Given the description of an element on the screen output the (x, y) to click on. 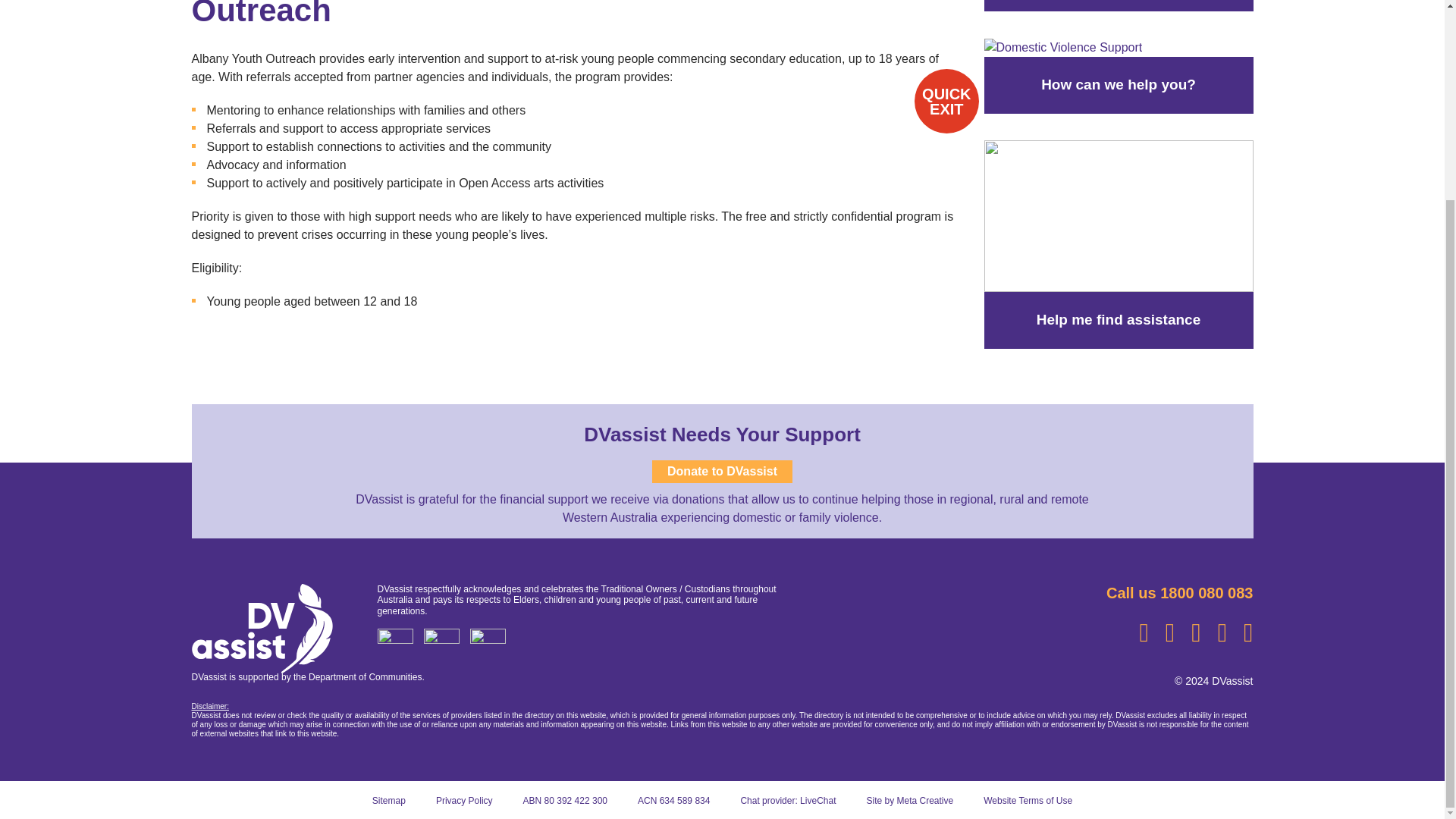
ACN 634 589 834 (673, 800)
Website Terms of Use (1027, 800)
Sitemap (389, 800)
ABN 80 392 422 300 (564, 800)
How can we help you? (1118, 28)
Site by Meta Creative (909, 800)
Privacy Policy (464, 800)
Donate to DVassist (722, 471)
Chat provider: LiveChat (787, 800)
Help me find assistance (1118, 215)
